Given the description of an element on the screen output the (x, y) to click on. 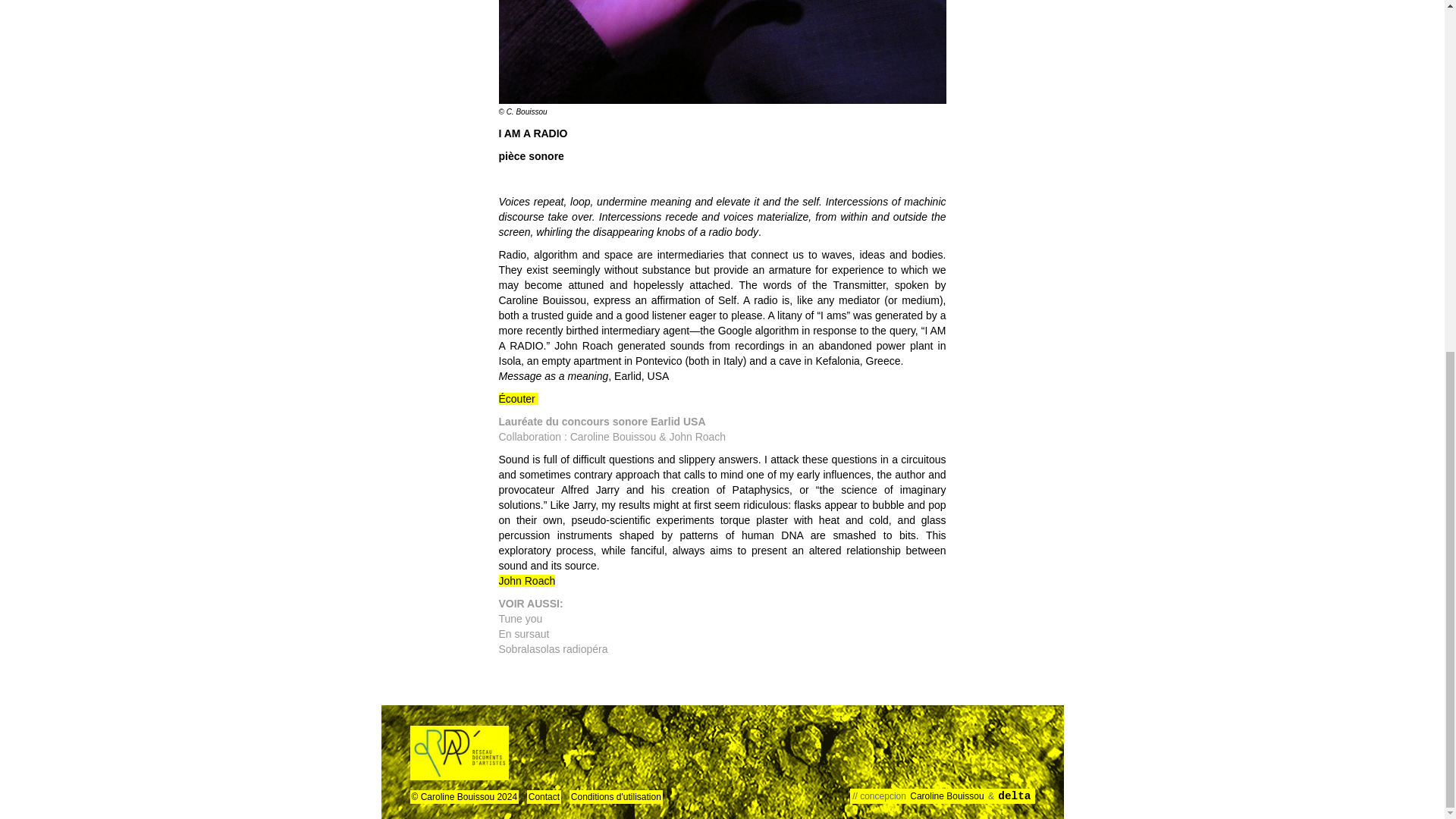
John Roach (527, 580)
En sursaut (524, 633)
Tune you (521, 618)
